Given the description of an element on the screen output the (x, y) to click on. 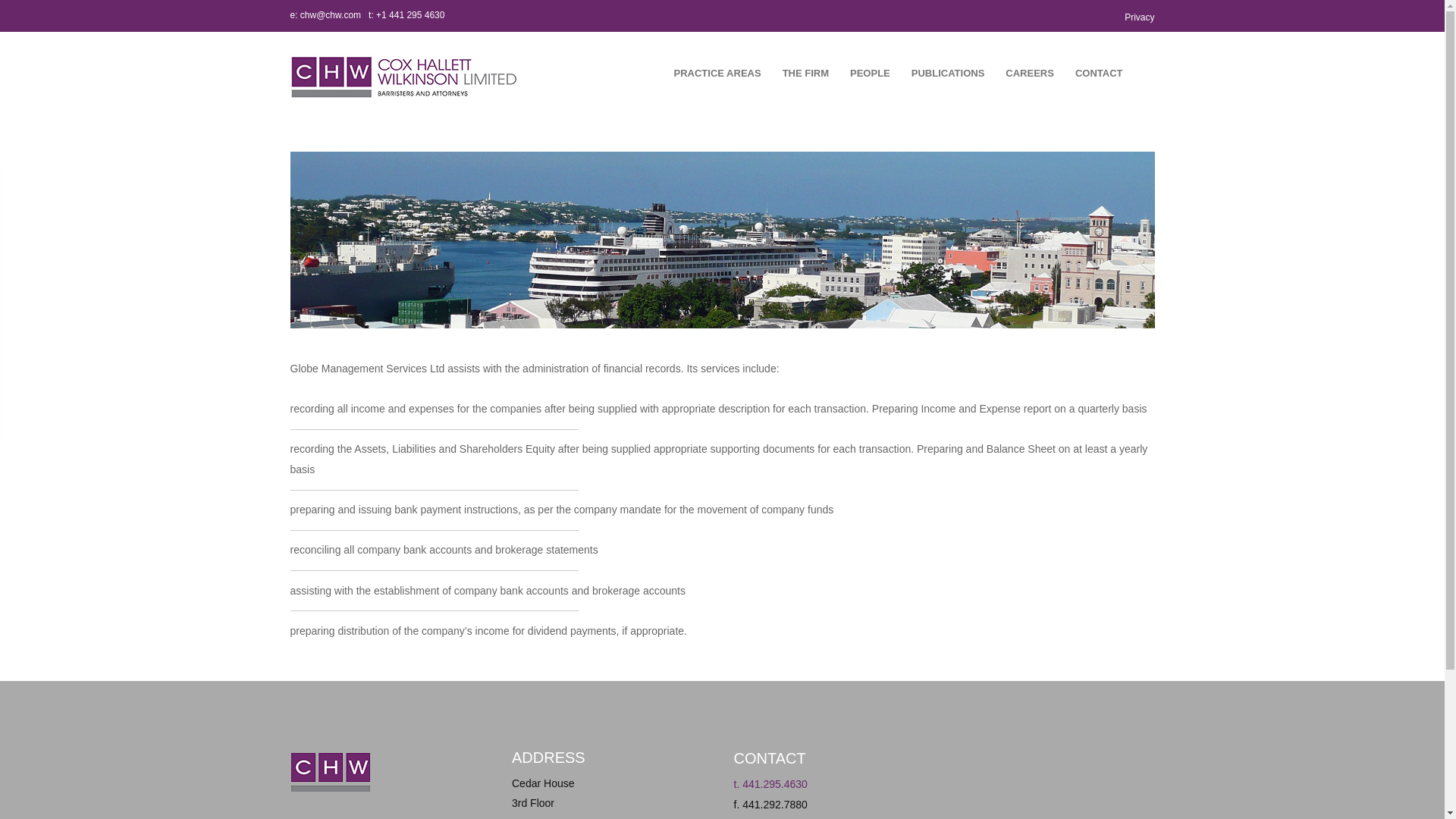
CHW (402, 77)
Privacy (1139, 17)
